Given the description of an element on the screen output the (x, y) to click on. 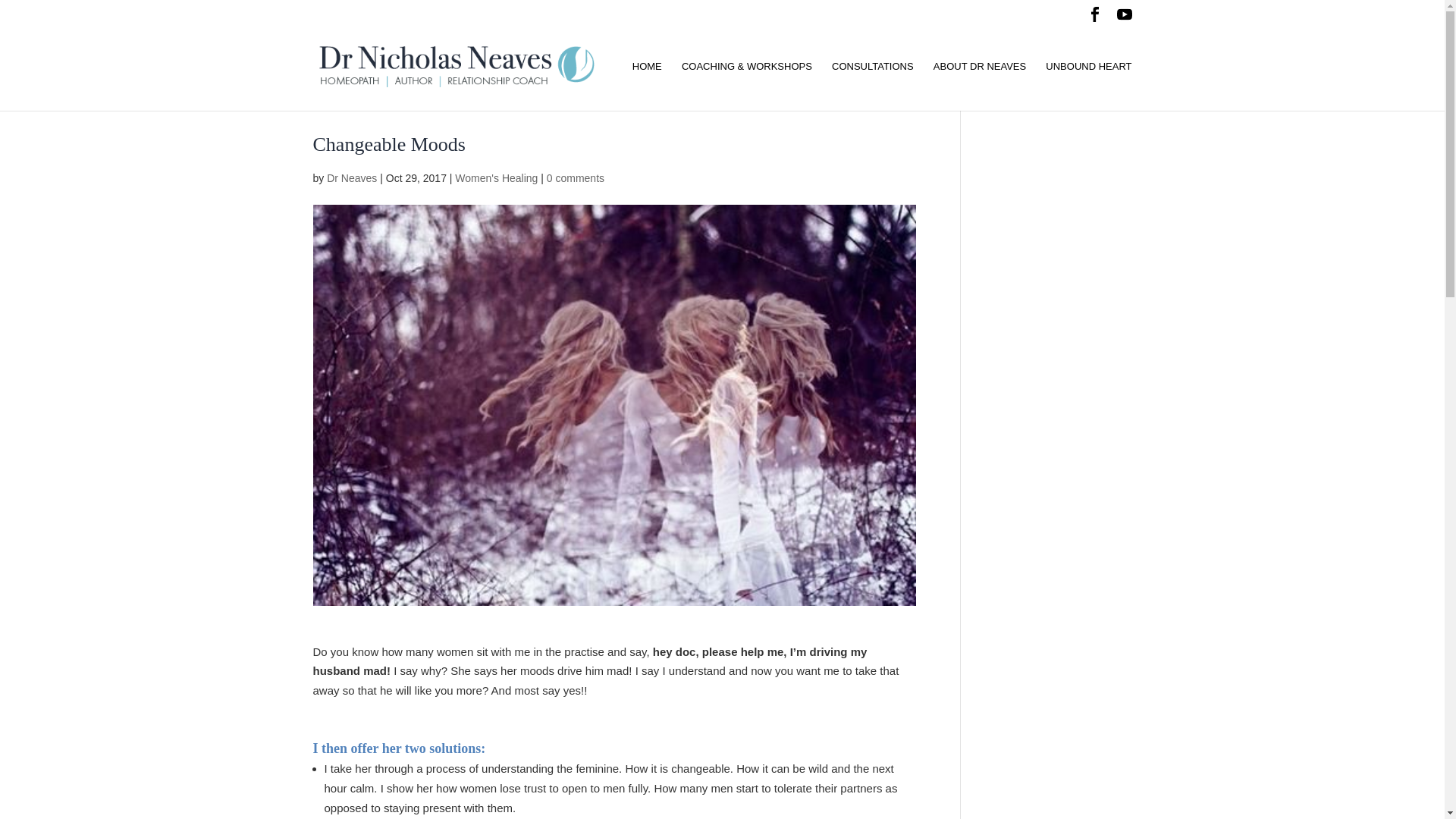
Women's Healing (495, 177)
0 comments (575, 177)
CONSULTATIONS (872, 85)
UNBOUND HEART (1088, 85)
ABOUT DR NEAVES (979, 85)
Dr Neaves (351, 177)
Posts by Dr Neaves (351, 177)
